Given the description of an element on the screen output the (x, y) to click on. 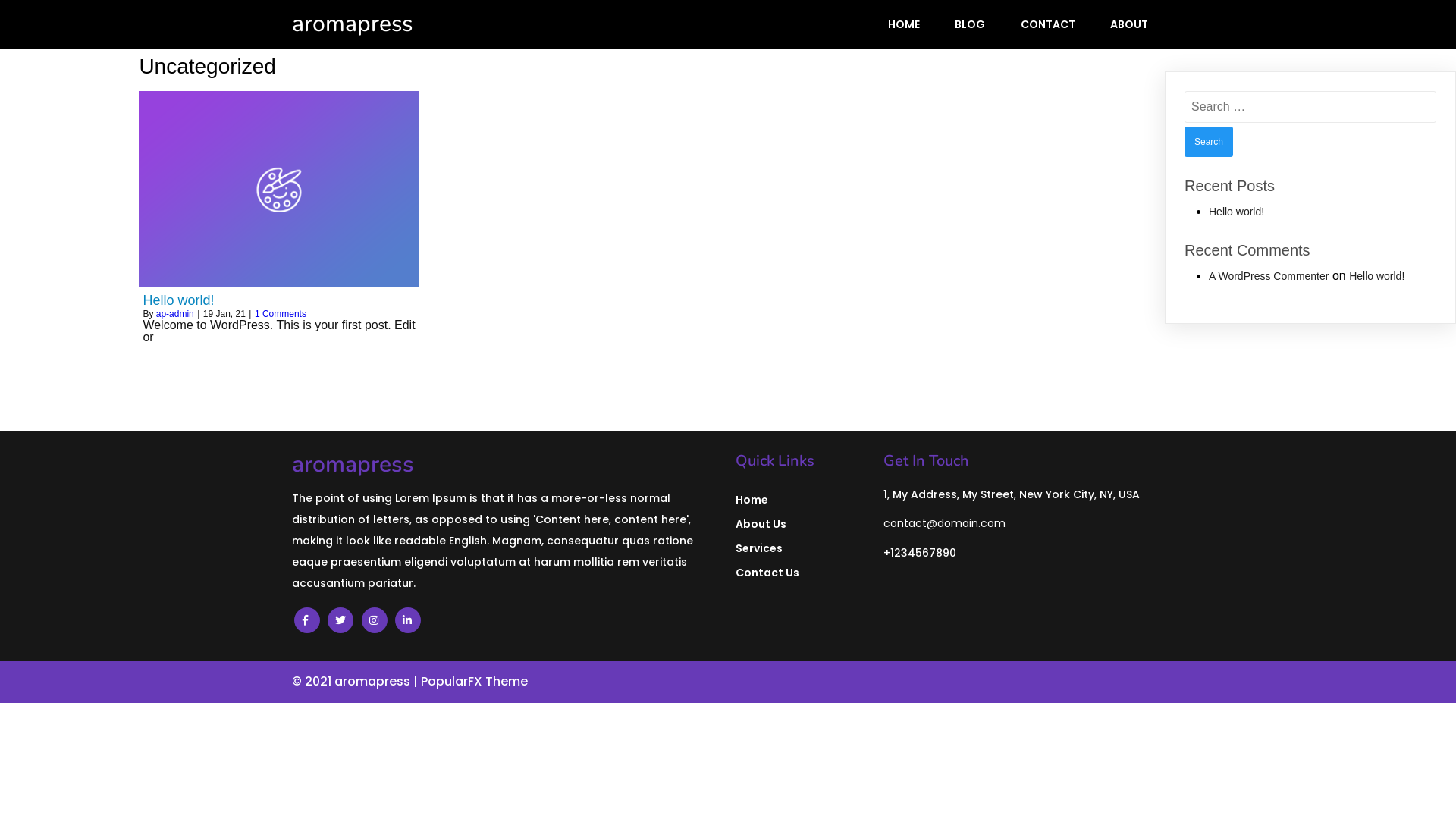
Hello world! Element type: text (1376, 275)
aromapress Element type: text (416, 23)
1 Comments Element type: text (280, 313)
Hello world! Element type: text (278, 300)
A WordPress Commenter Element type: text (1268, 275)
CONTACT Element type: text (1047, 24)
Hello world! Element type: text (1236, 211)
PopularFX Theme Element type: text (473, 681)
ABOUT Element type: text (1129, 24)
BLOG Element type: text (969, 24)
aromapress Element type: text (505, 464)
ap-admin Element type: text (175, 313)
Search Element type: text (1208, 141)
HOME Element type: text (903, 24)
